Given the description of an element on the screen output the (x, y) to click on. 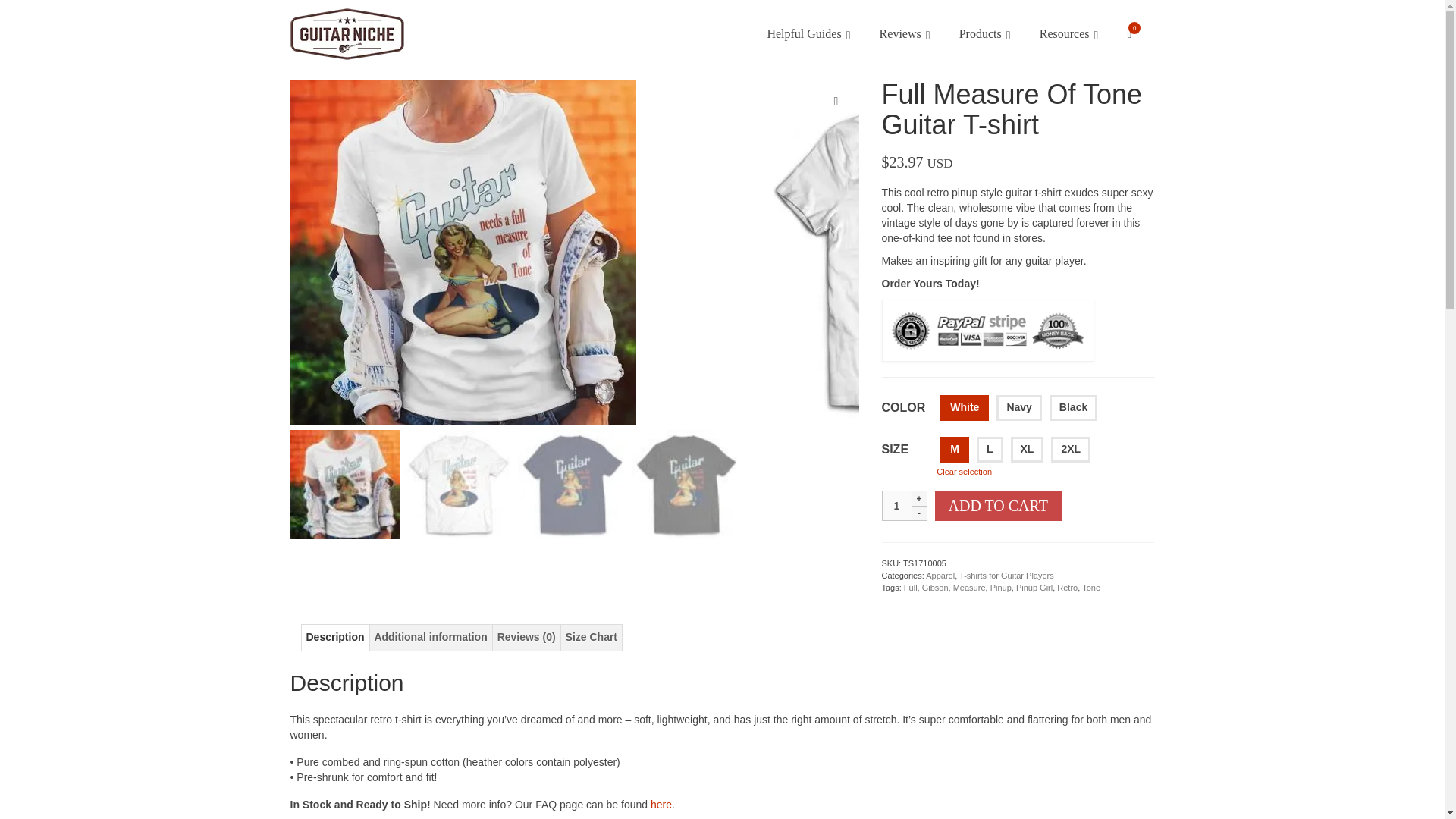
- (918, 513)
Helpful Guides (807, 33)
1 (895, 505)
Resources (1068, 33)
Products (984, 33)
Reviews (903, 33)
